Given the description of an element on the screen output the (x, y) to click on. 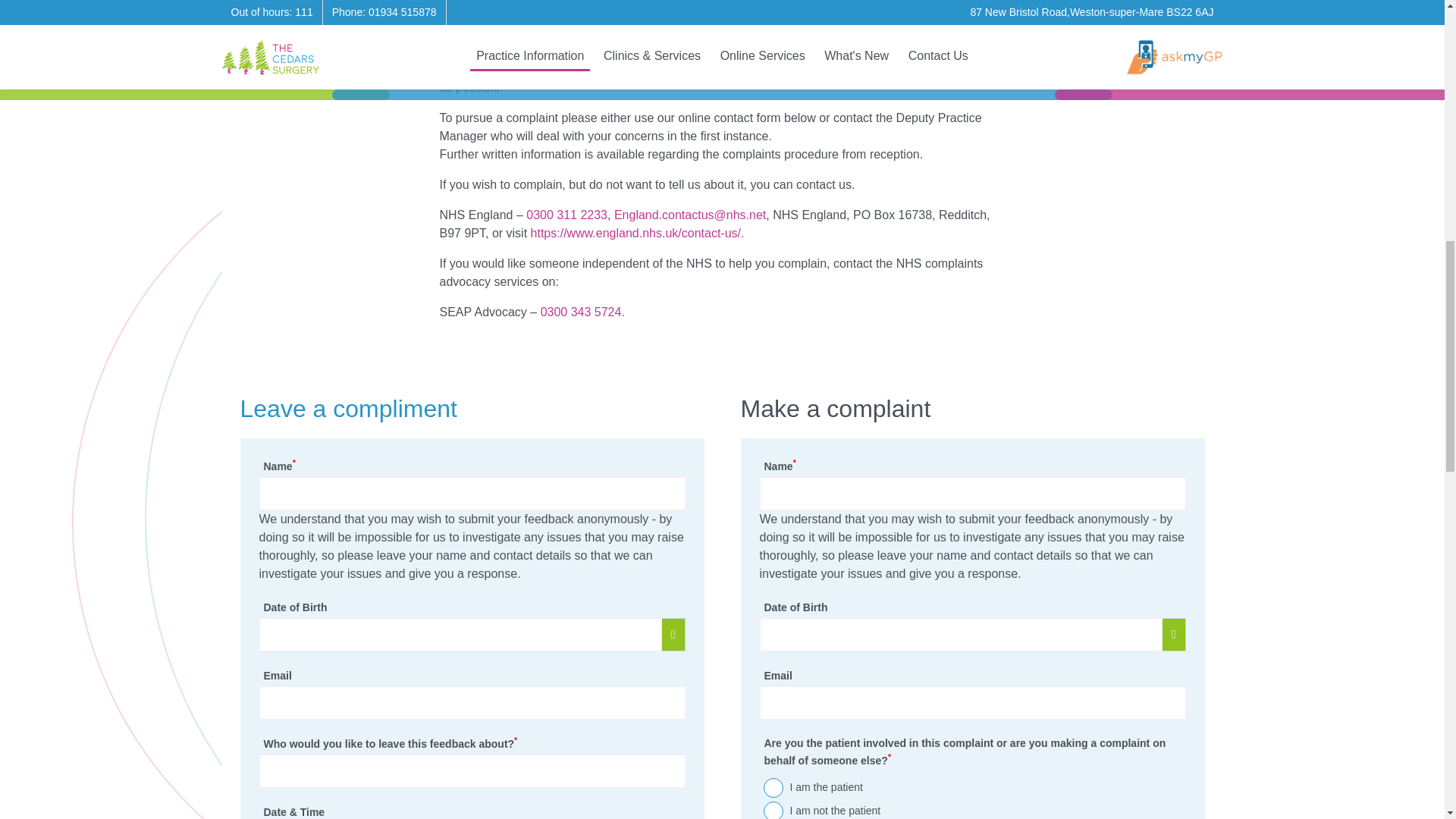
I am the patient (772, 787)
I am not the patient (772, 810)
